Given the description of an element on the screen output the (x, y) to click on. 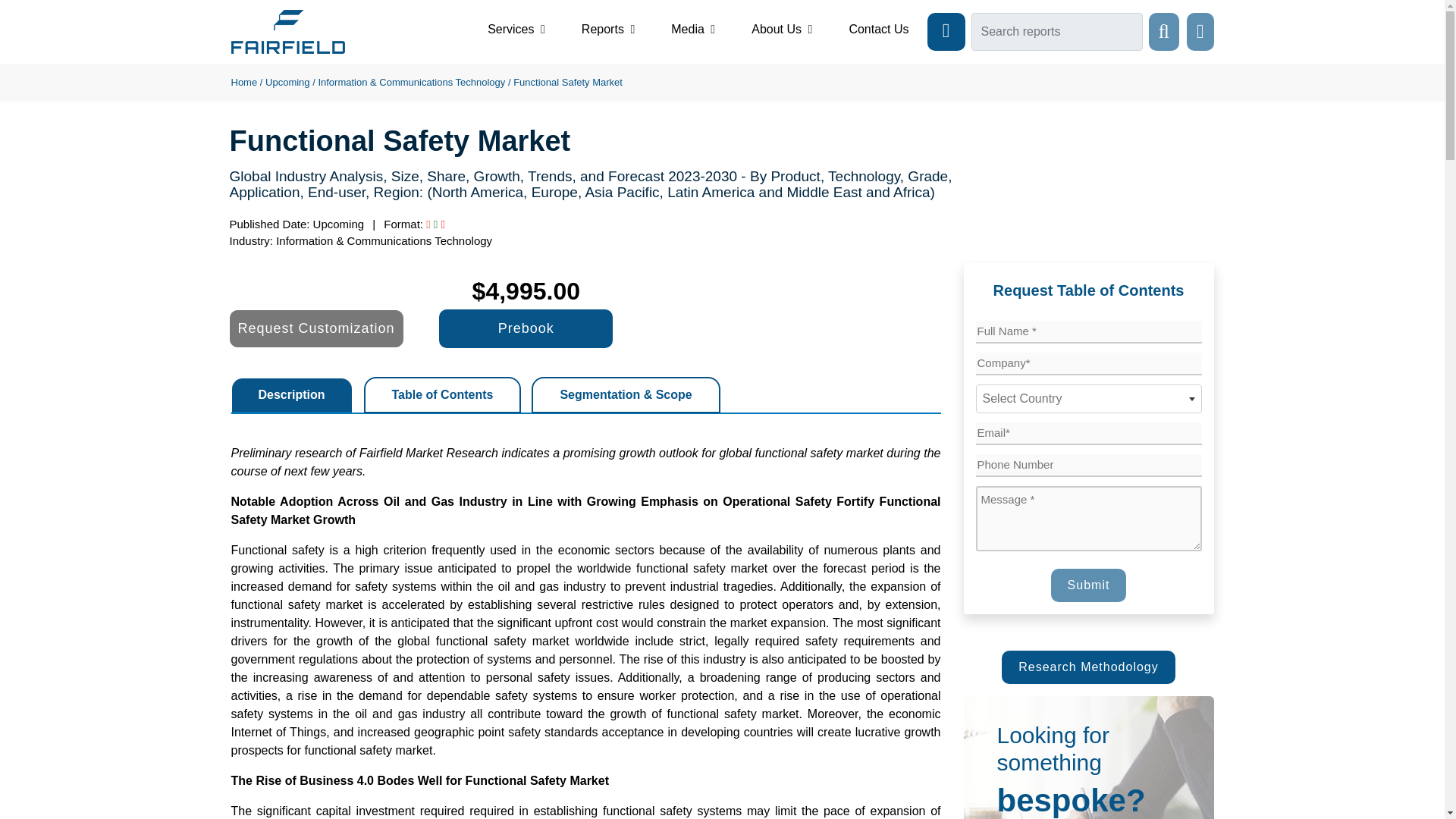
Table of Contents (442, 394)
Home (243, 81)
Functional Safety Market (568, 81)
Prebook (525, 328)
Services (515, 29)
Upcoming (287, 81)
Media (692, 29)
Reports (607, 29)
Request Customization (315, 328)
About Us (781, 29)
Description (291, 394)
Contact Us (877, 29)
